Given the description of an element on the screen output the (x, y) to click on. 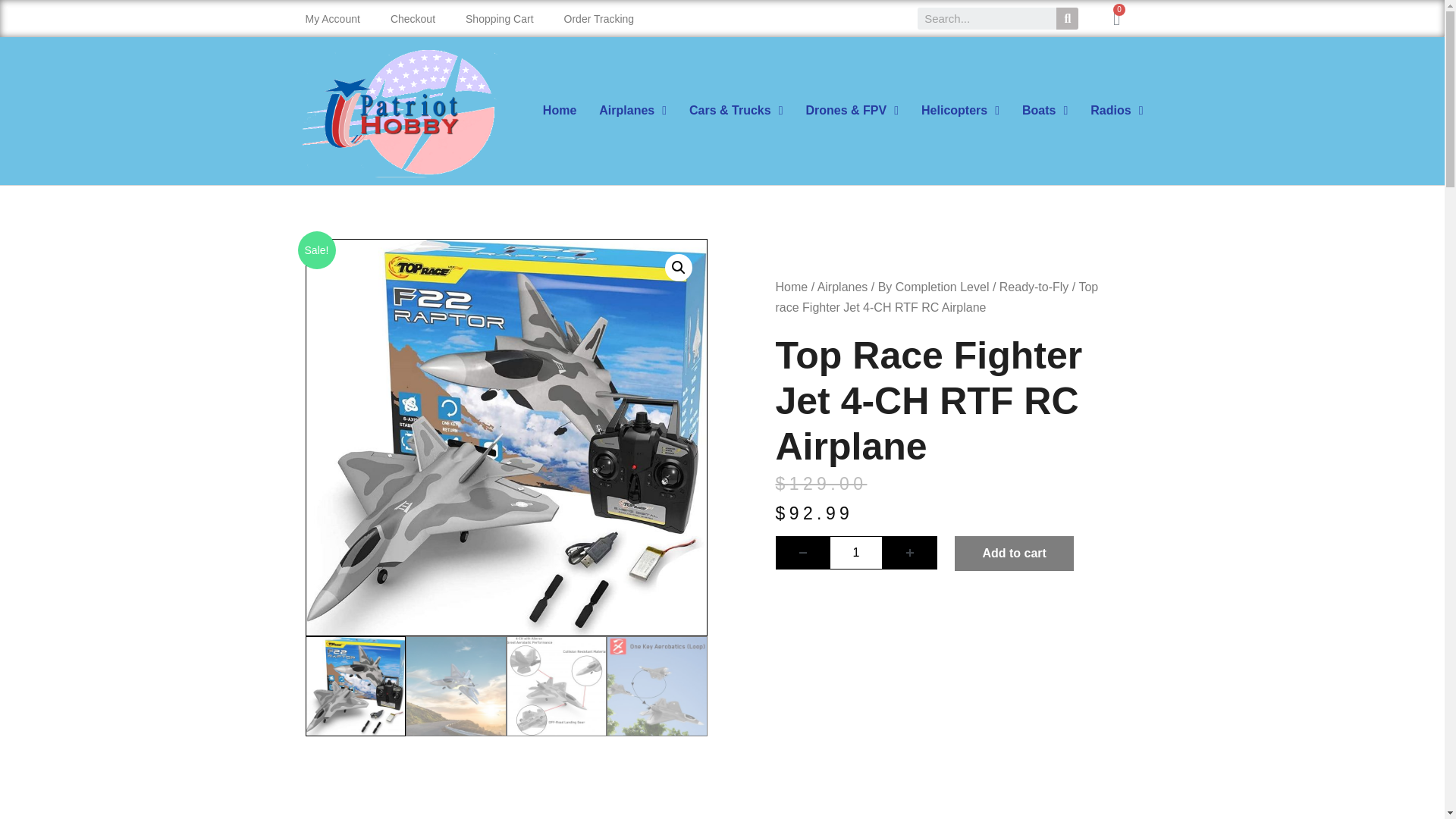
1 (855, 552)
Search (1067, 18)
My Account (331, 18)
Qty (855, 552)
Shopping Cart (498, 18)
Checkout (412, 18)
Airplanes (633, 110)
Home (559, 110)
Search (987, 18)
Order Tracking (598, 18)
